Given the description of an element on the screen output the (x, y) to click on. 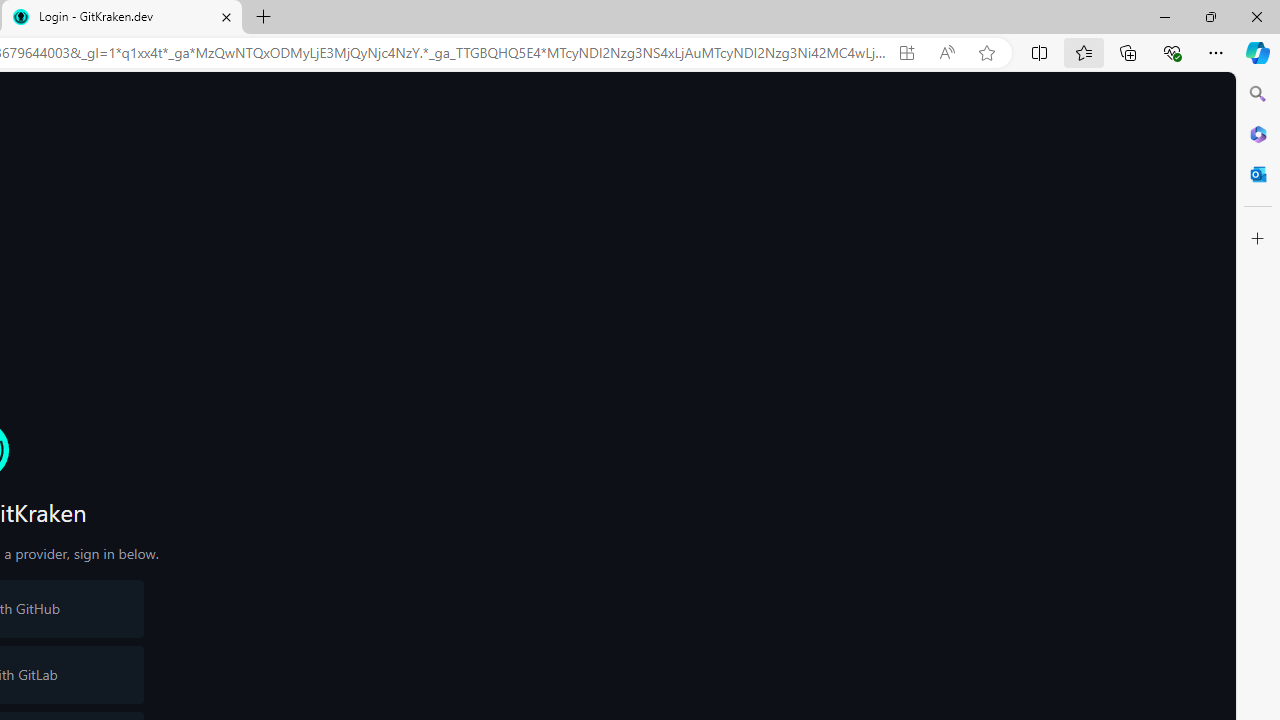
App available. Install GitKraken.dev (906, 53)
